Given the description of an element on the screen output the (x, y) to click on. 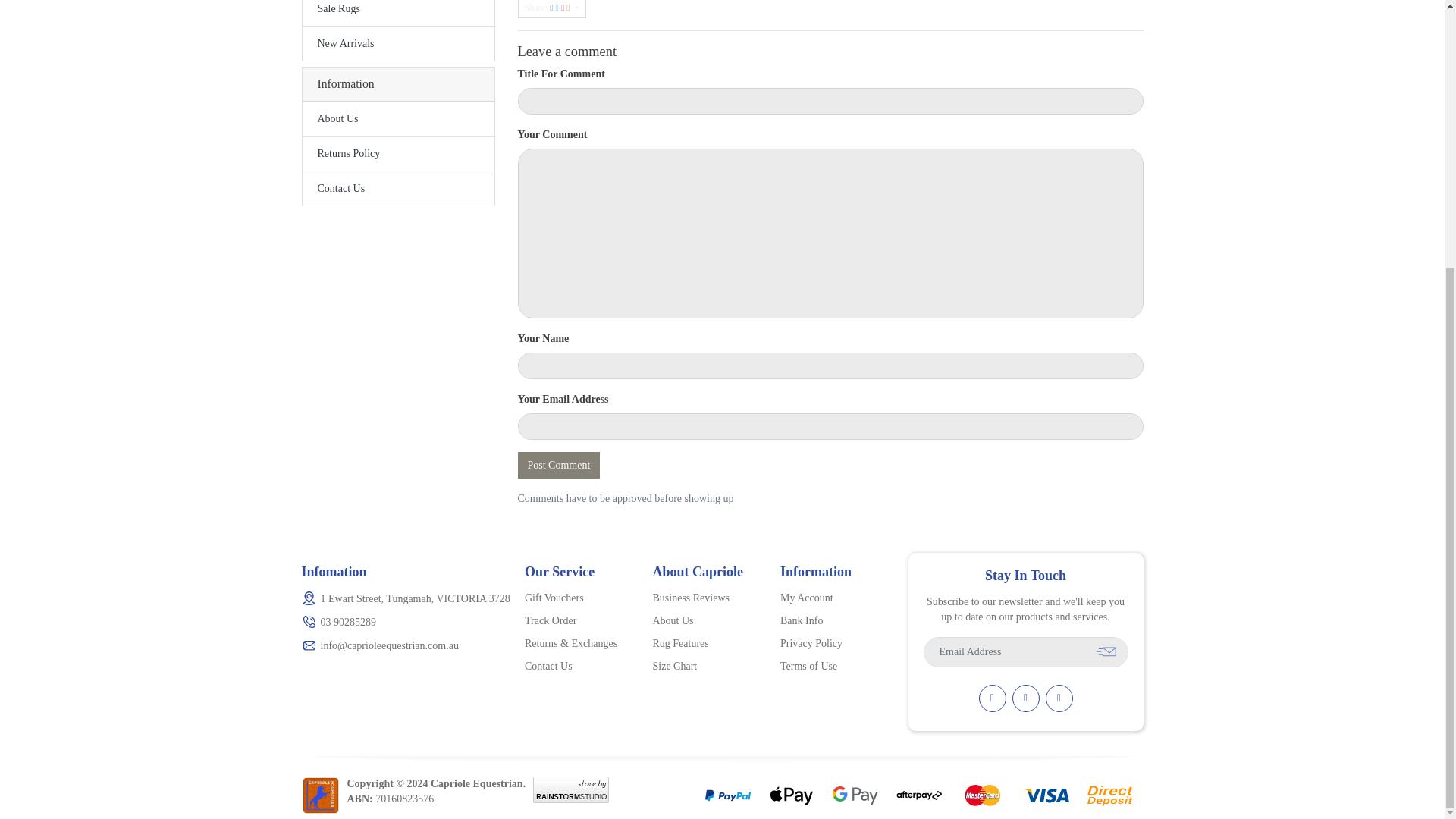
Capriole Equestrian on Instagram (1058, 697)
Email us (992, 697)
Capriole Equestrian on Facebook (1025, 697)
Sale Rugs (397, 12)
Subscribe (1106, 651)
New Arrivals (397, 43)
Rainstorm (570, 787)
